Given the description of an element on the screen output the (x, y) to click on. 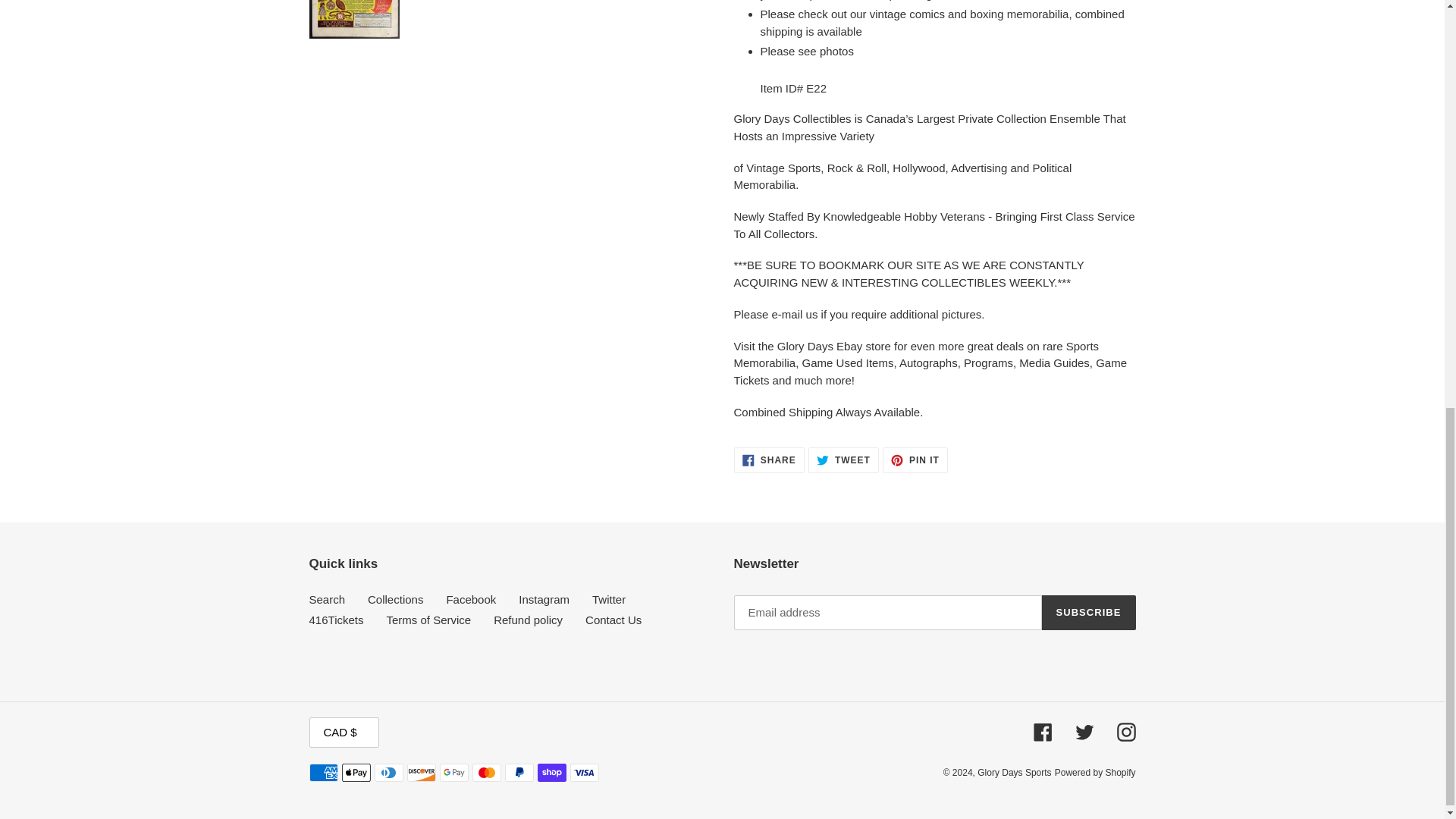
Search (843, 460)
Facebook (327, 599)
Instagram (914, 460)
Collections (769, 460)
